Given the description of an element on the screen output the (x, y) to click on. 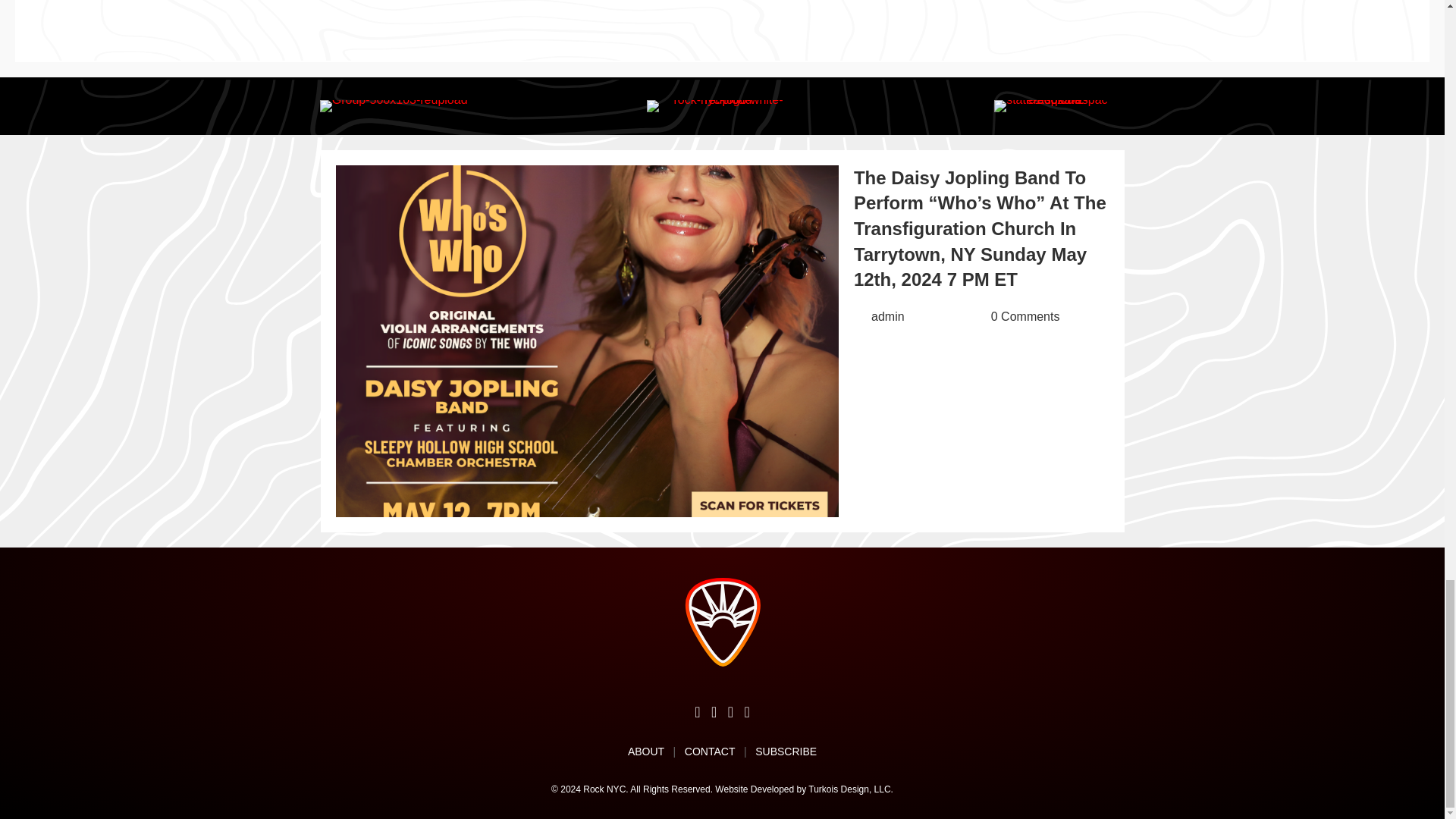
rock-nyc-logo-white-reupload (721, 105)
Group-500x103-reupload (393, 105)
static1.squarespace-500x371-reupload (1051, 105)
